Given the description of an element on the screen output the (x, y) to click on. 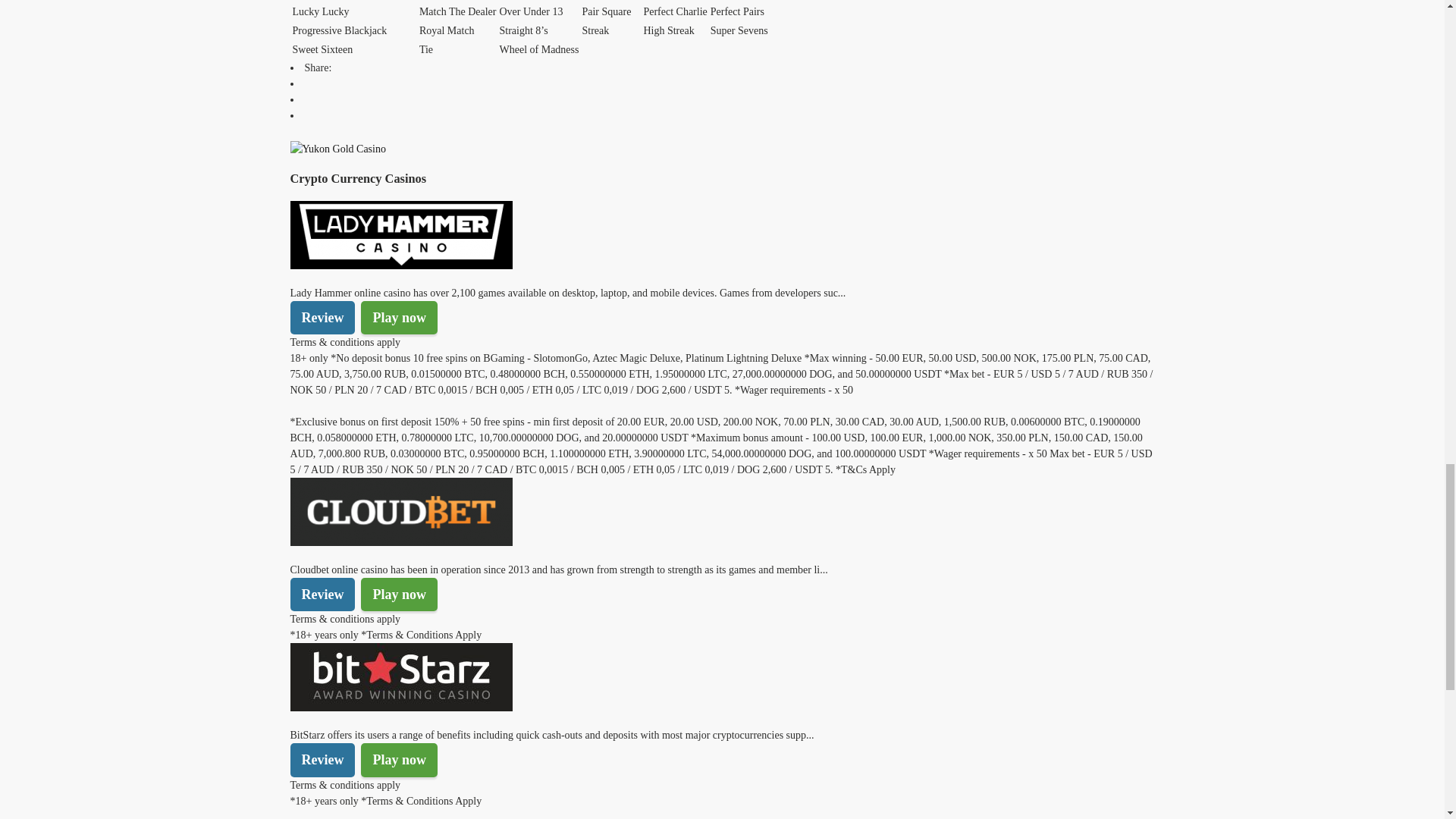
Play now (398, 594)
Yukon Gold Casino (337, 156)
Review (322, 317)
Review (322, 759)
Play now (398, 317)
Play now (398, 759)
Review (322, 594)
